Given the description of an element on the screen output the (x, y) to click on. 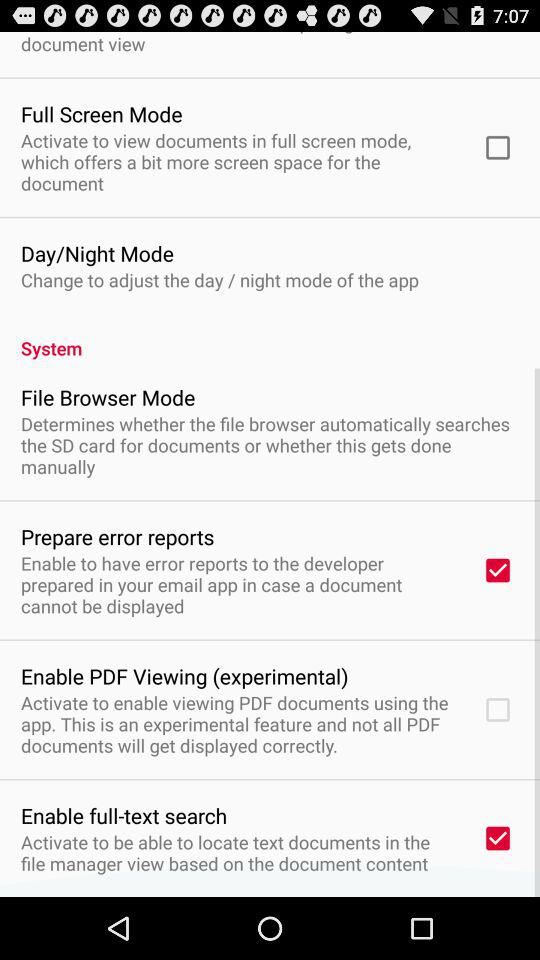
turn off change to adjust (219, 279)
